Given the description of an element on the screen output the (x, y) to click on. 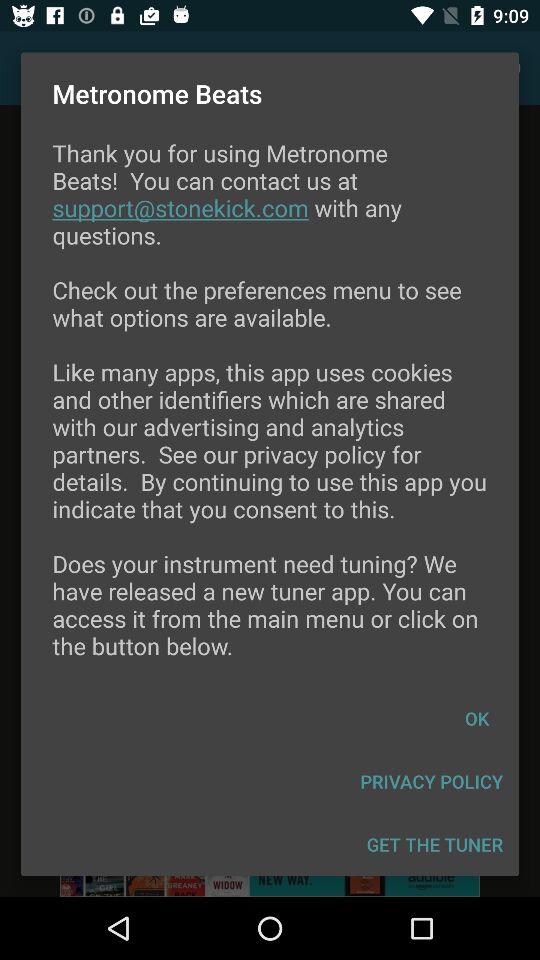
choose the icon below the privacy policy (434, 844)
